Given the description of an element on the screen output the (x, y) to click on. 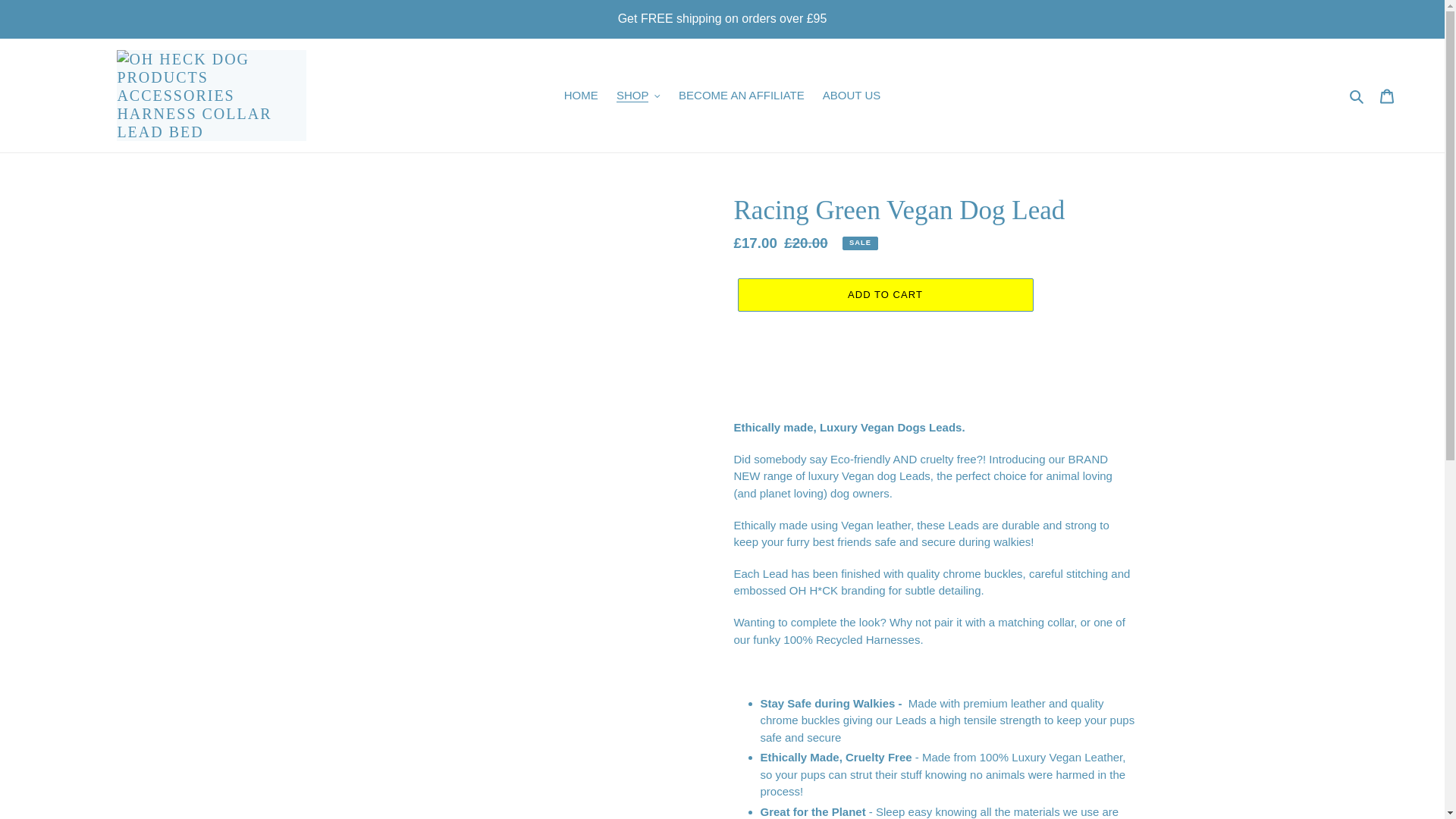
Search (1357, 95)
Cart (1387, 95)
HOME (580, 96)
ADD TO CART (884, 295)
SHOP (638, 96)
ABOUT US (851, 96)
BECOME AN AFFILIATE (741, 96)
